Given the description of an element on the screen output the (x, y) to click on. 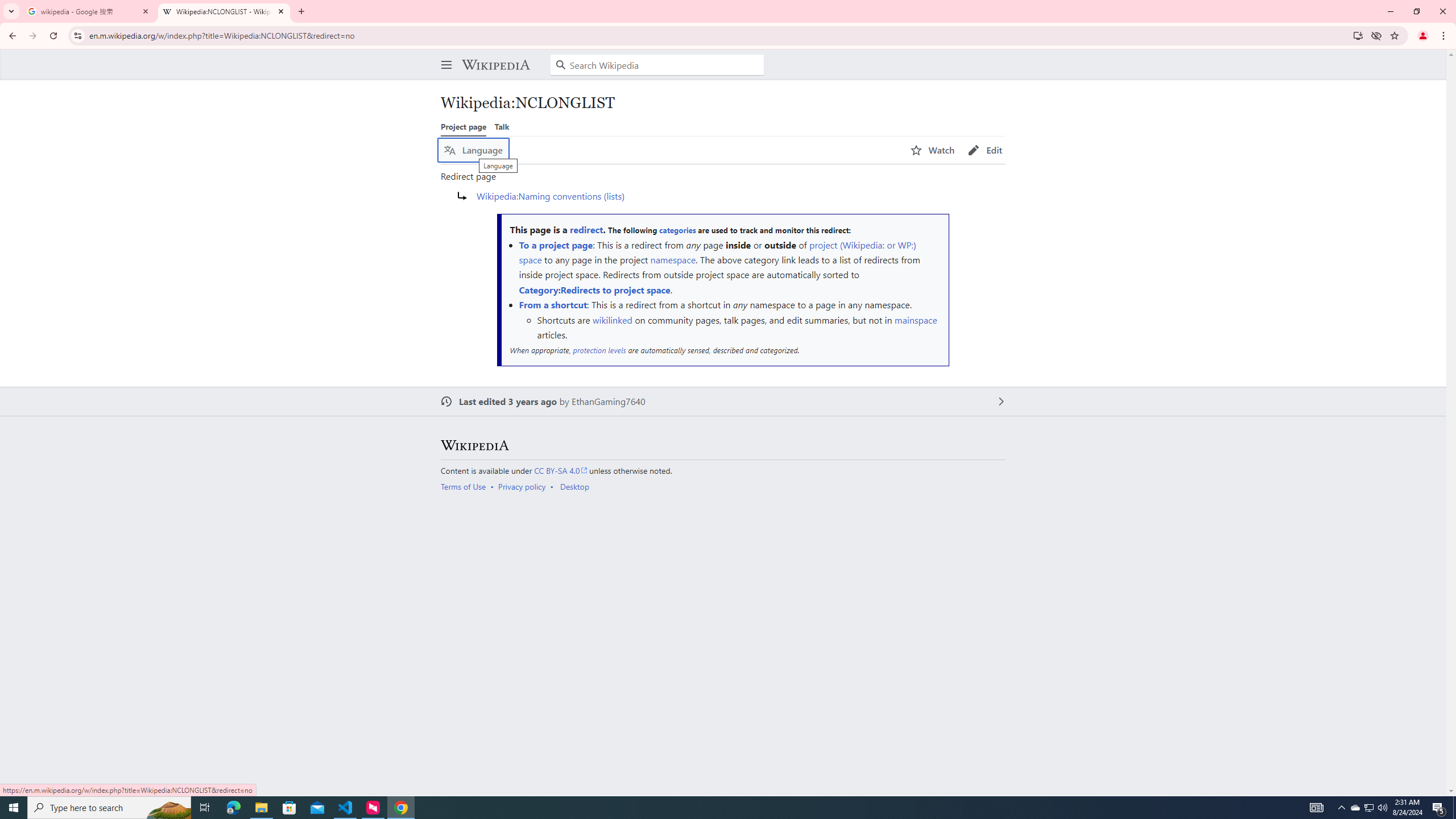
From a shortcut (553, 304)
To a project page (555, 244)
Last edited 3 years ago by EthanGaming7640 (722, 401)
Install Wikipedia (1358, 35)
project (Wikipedia: or WP:) space (716, 251)
namespace (672, 259)
AutomationID: footer-places-privacy (525, 487)
AutomationID: footer-places-terms-use (466, 487)
Privacy policy (521, 486)
AutomationID: footer-info-copyright (720, 470)
